Given the description of an element on the screen output the (x, y) to click on. 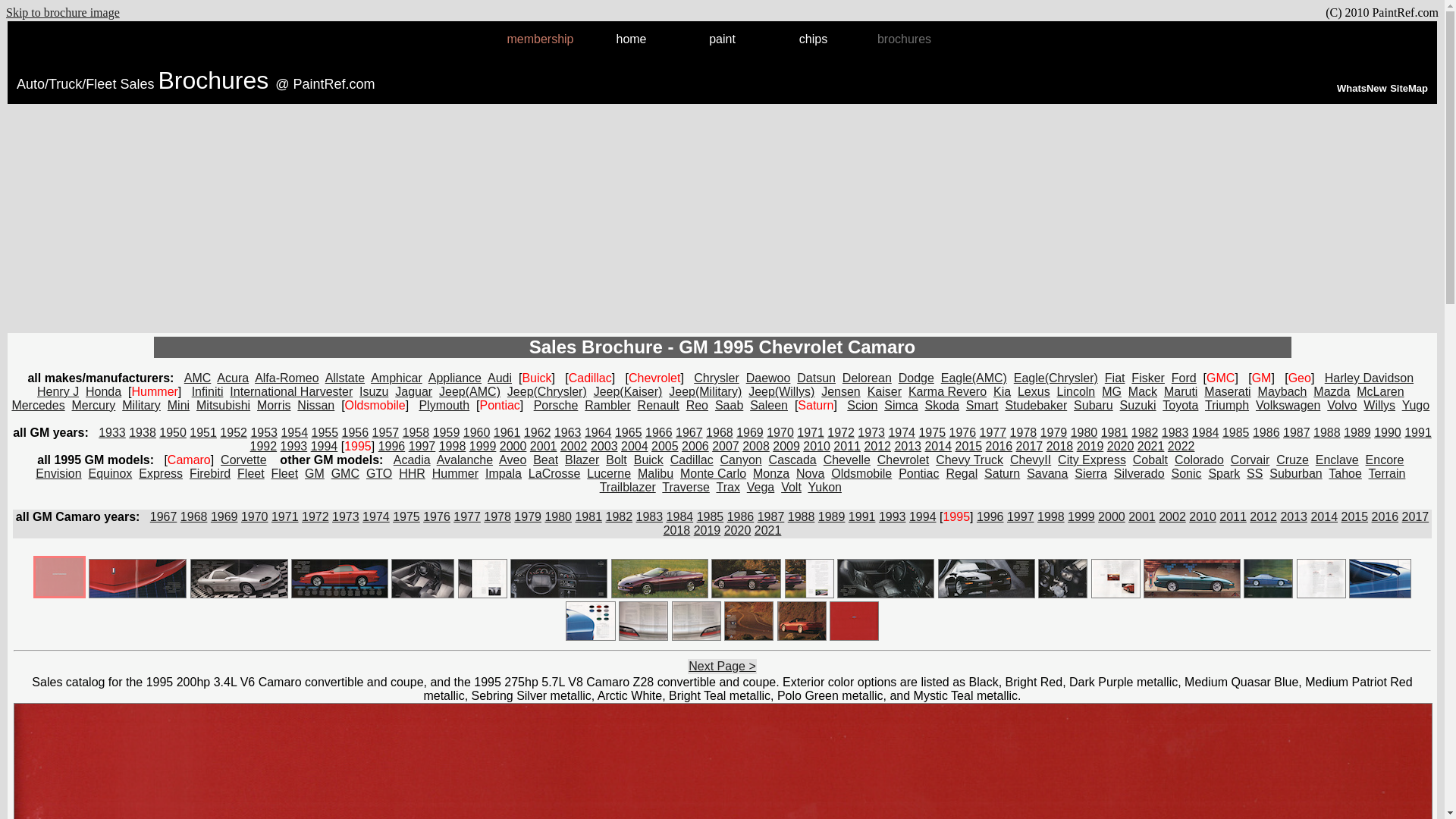
Fisker (1147, 377)
Karma Revero (947, 391)
home (630, 38)
Chevrolet Beat sales brochure (544, 459)
Chevrolet Bolt sales brochure (616, 459)
Delorean (867, 377)
GMC Canyon sales brochure (740, 459)
Jensen (840, 391)
Amphicar (396, 377)
Chevrolet ChevyII sales brochure (1030, 459)
